Given the description of an element on the screen output the (x, y) to click on. 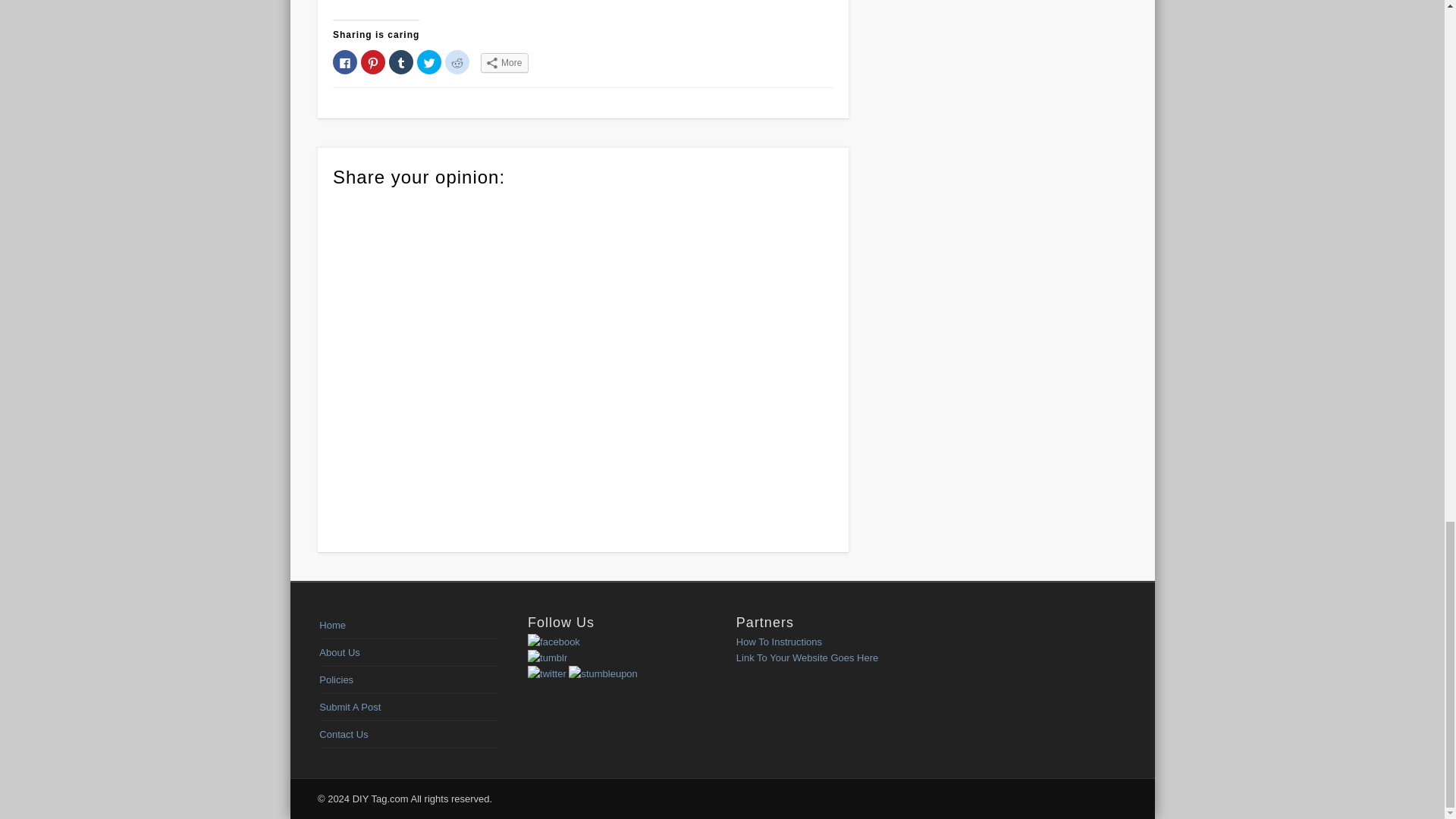
Click to share on Tumblr (400, 61)
More (504, 62)
Click to share on Reddit (456, 61)
Click to share on Twitter (428, 61)
Click to share on Facebook (344, 61)
Click to share on Pinterest (373, 61)
